Given the description of an element on the screen output the (x, y) to click on. 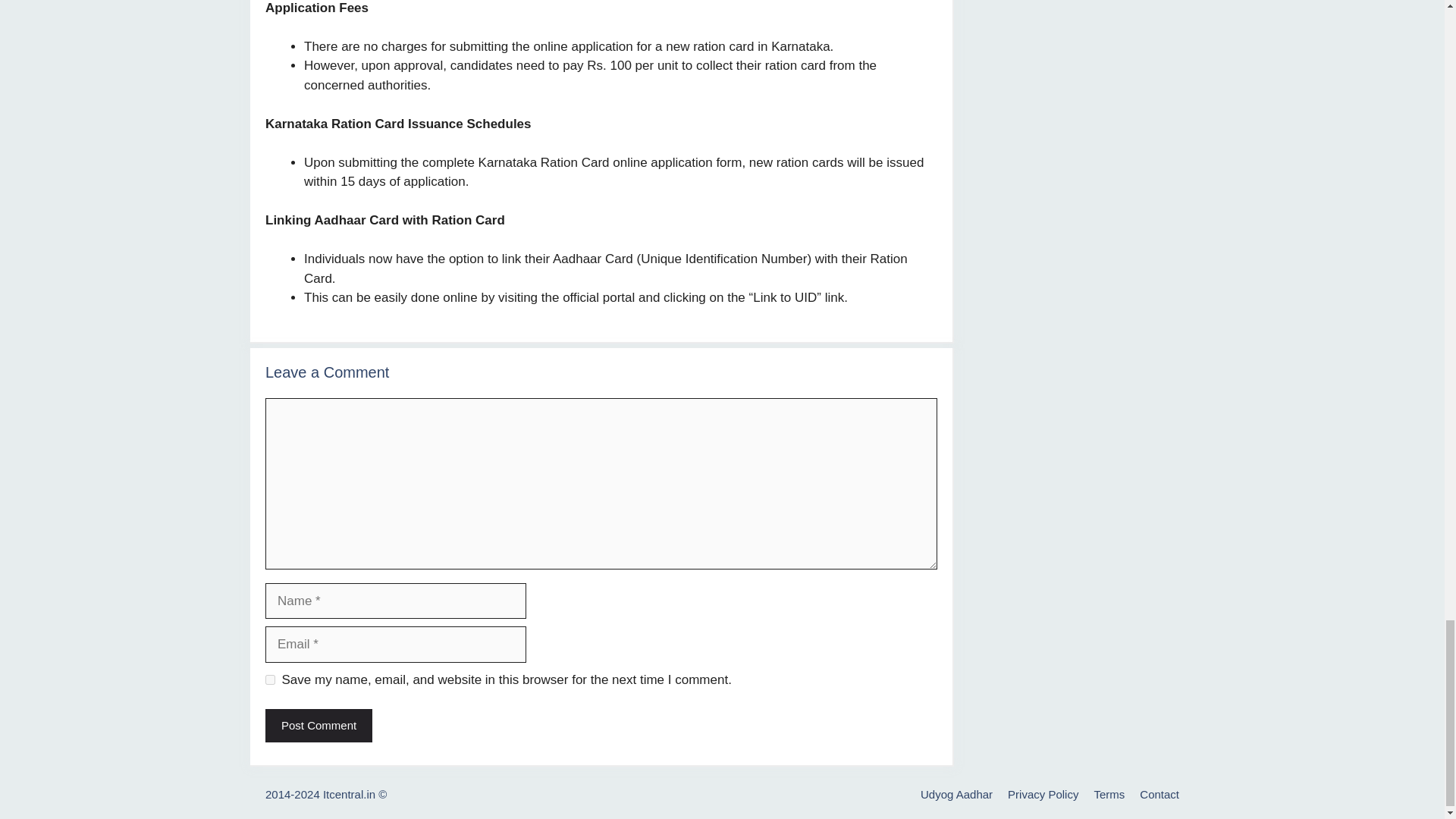
Post Comment (318, 725)
Post Comment (318, 725)
yes (269, 679)
